Given the description of an element on the screen output the (x, y) to click on. 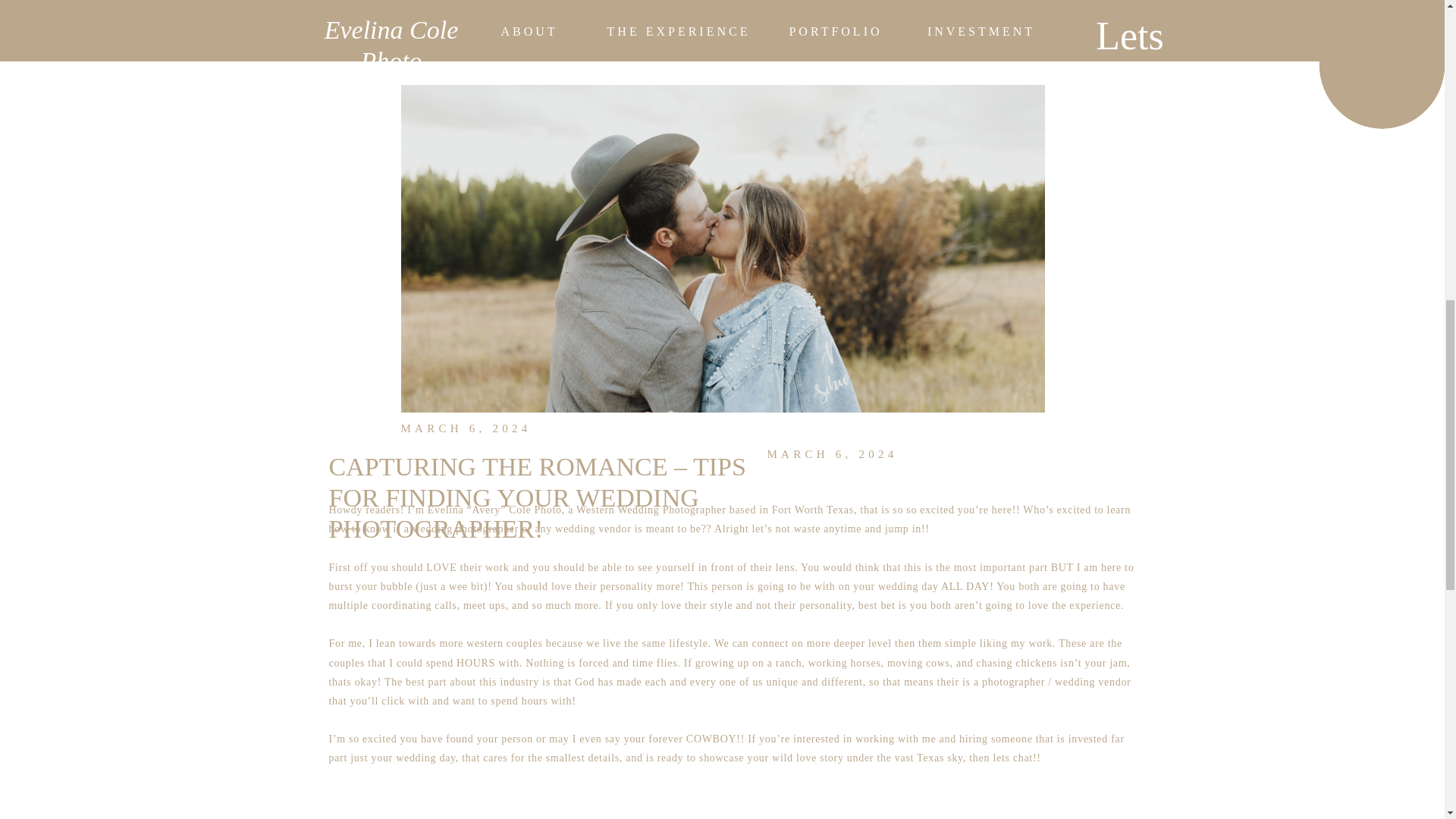
PORTFOLIO (836, 30)
INVESTMENT (981, 30)
ABOUT (529, 30)
Evelina Cole Photo (1130, 61)
THE EXPERIENCE (390, 30)
